Given the description of an element on the screen output the (x, y) to click on. 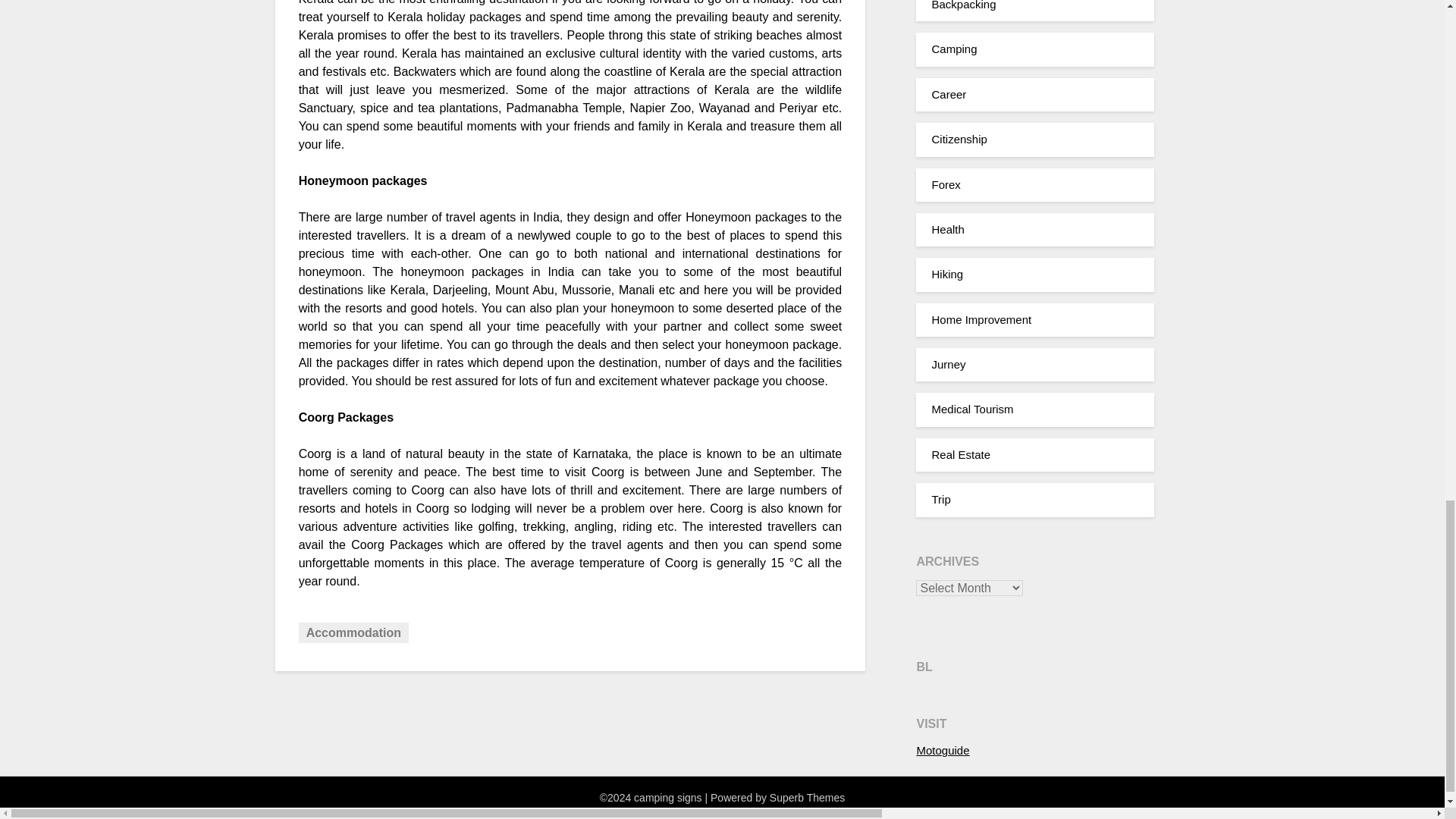
Accommodation (353, 632)
Hiking (946, 273)
Home Improvement (980, 318)
Forex (945, 184)
Career (948, 93)
Health (947, 228)
Camping (953, 48)
Citizenship (959, 138)
Backpacking (963, 5)
